Given the description of an element on the screen output the (x, y) to click on. 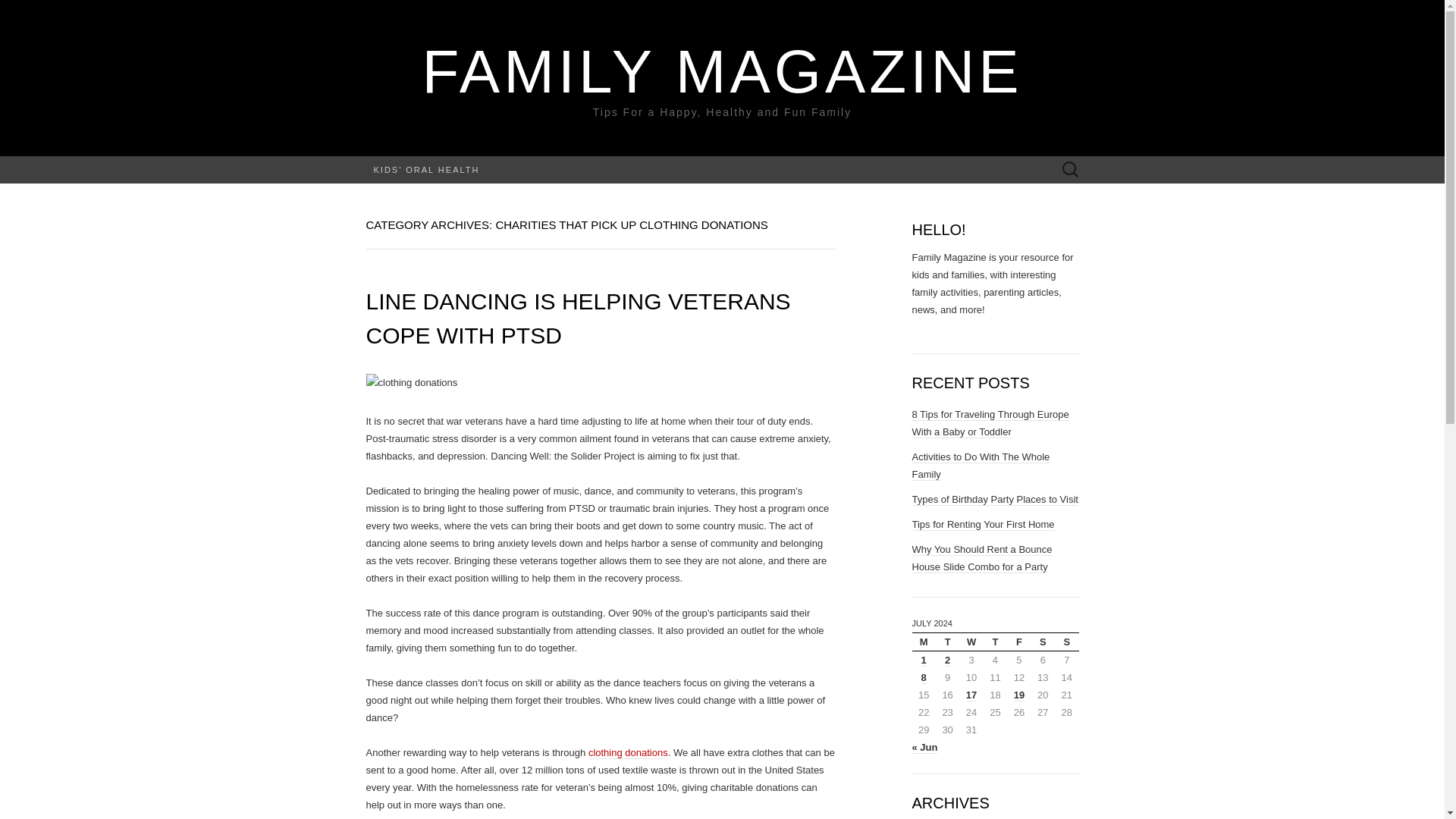
Why You Should Rent a Bounce House Slide Combo for a Party (981, 558)
Tips for Renting Your First Home (982, 524)
Thursday (995, 641)
Search (16, 12)
8 Tips for Traveling Through Europe With a Baby or Toddler (989, 423)
LINE DANCING IS HELPING VETERANS COPE WITH PTSD (577, 318)
Types of Birthday Party Places to Visit (994, 499)
Tuesday (947, 641)
Activities to Do With The Whole Family (980, 465)
Monday (922, 641)
Friday (1018, 641)
Saturday (1042, 641)
Family Magazine (722, 71)
FAMILY MAGAZINE (722, 71)
Sunday (1066, 641)
